Given the description of an element on the screen output the (x, y) to click on. 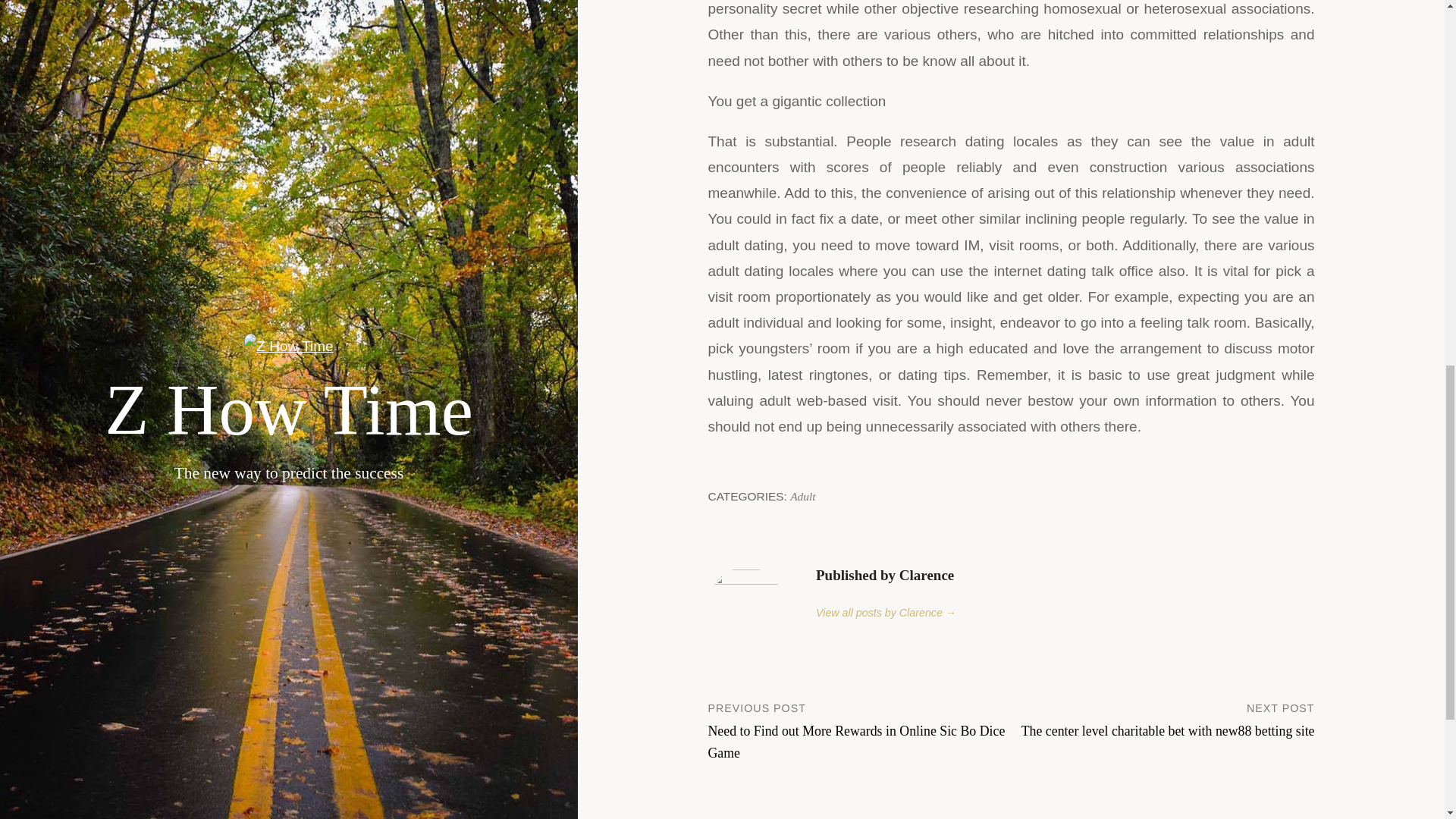
Adult (802, 495)
